Given the description of an element on the screen output the (x, y) to click on. 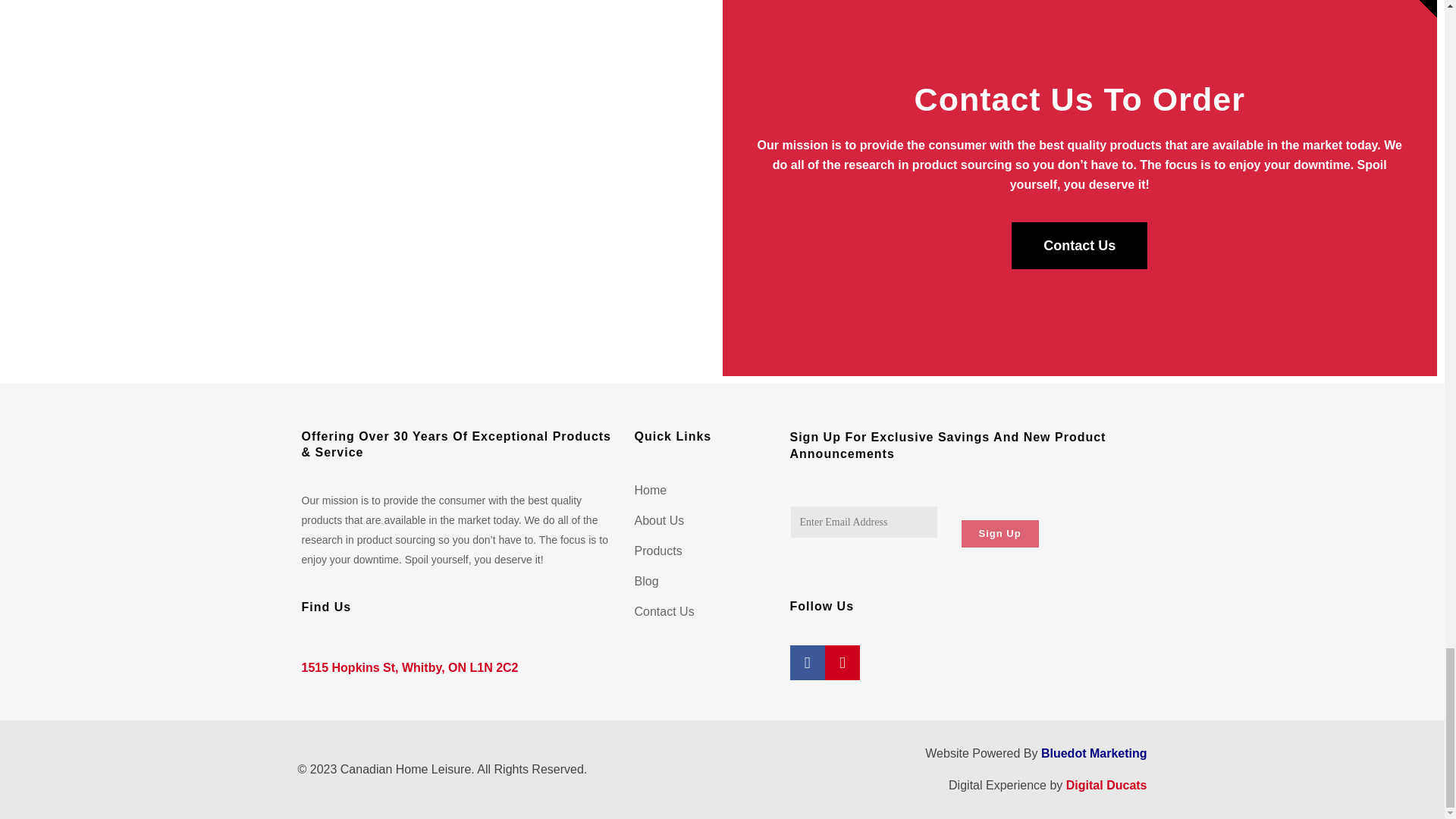
Sign Up (999, 533)
